Given the description of an element on the screen output the (x, y) to click on. 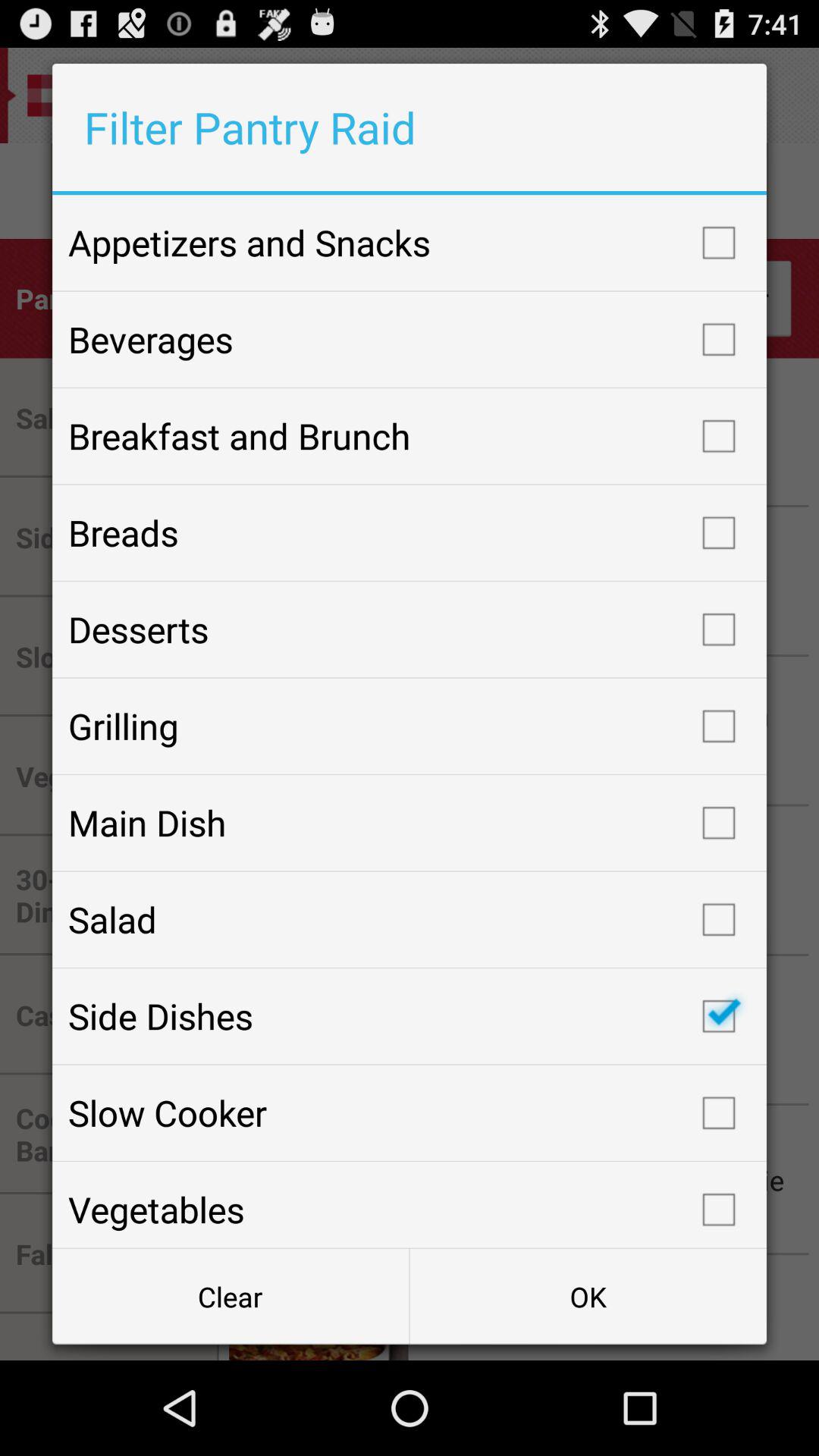
swipe until the main dish item (409, 822)
